Given the description of an element on the screen output the (x, y) to click on. 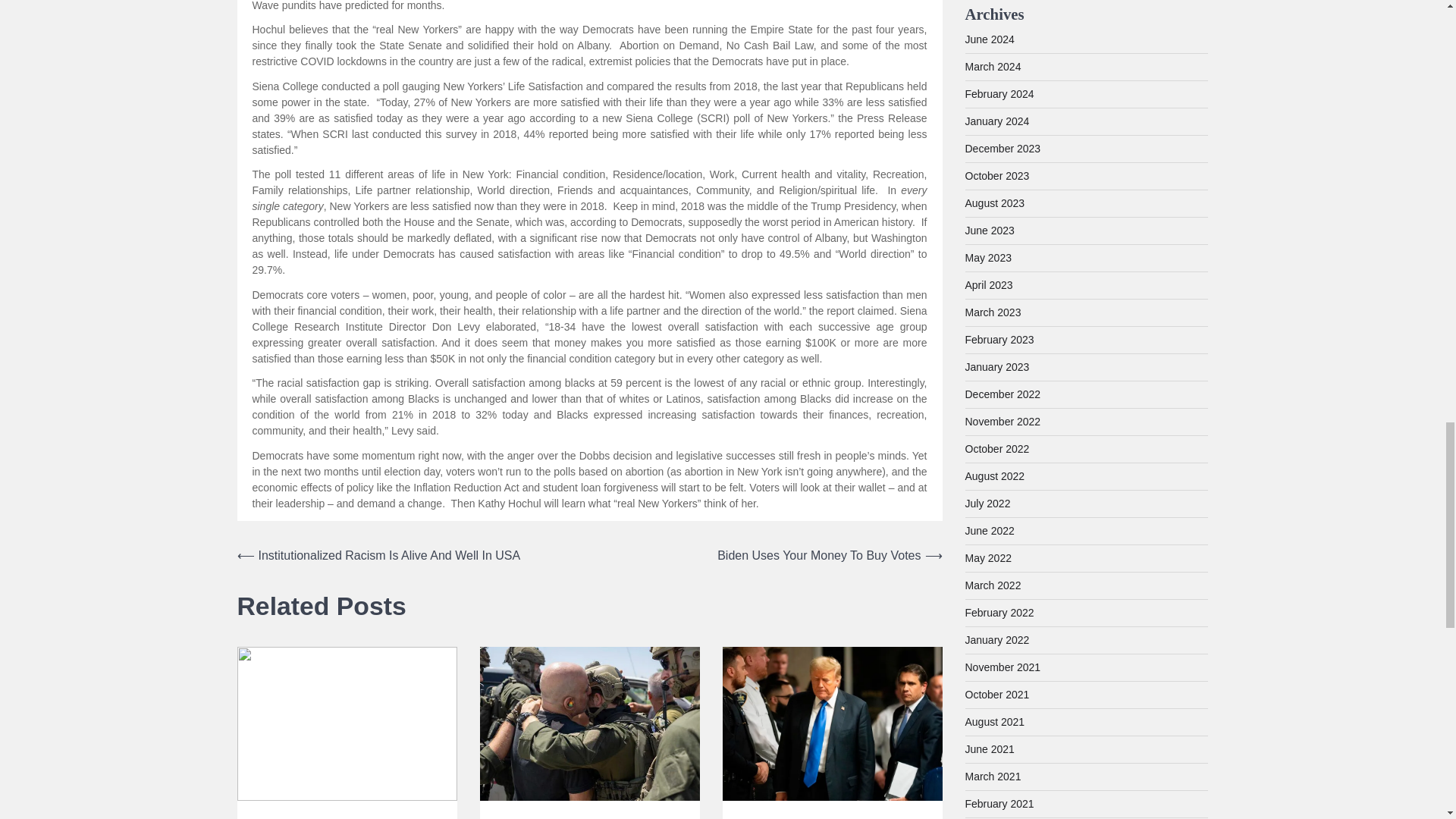
The Ridiculousness Of The Trump Verdict (831, 817)
Rescues Hostages; World Angry At Israel (589, 817)
